Given the description of an element on the screen output the (x, y) to click on. 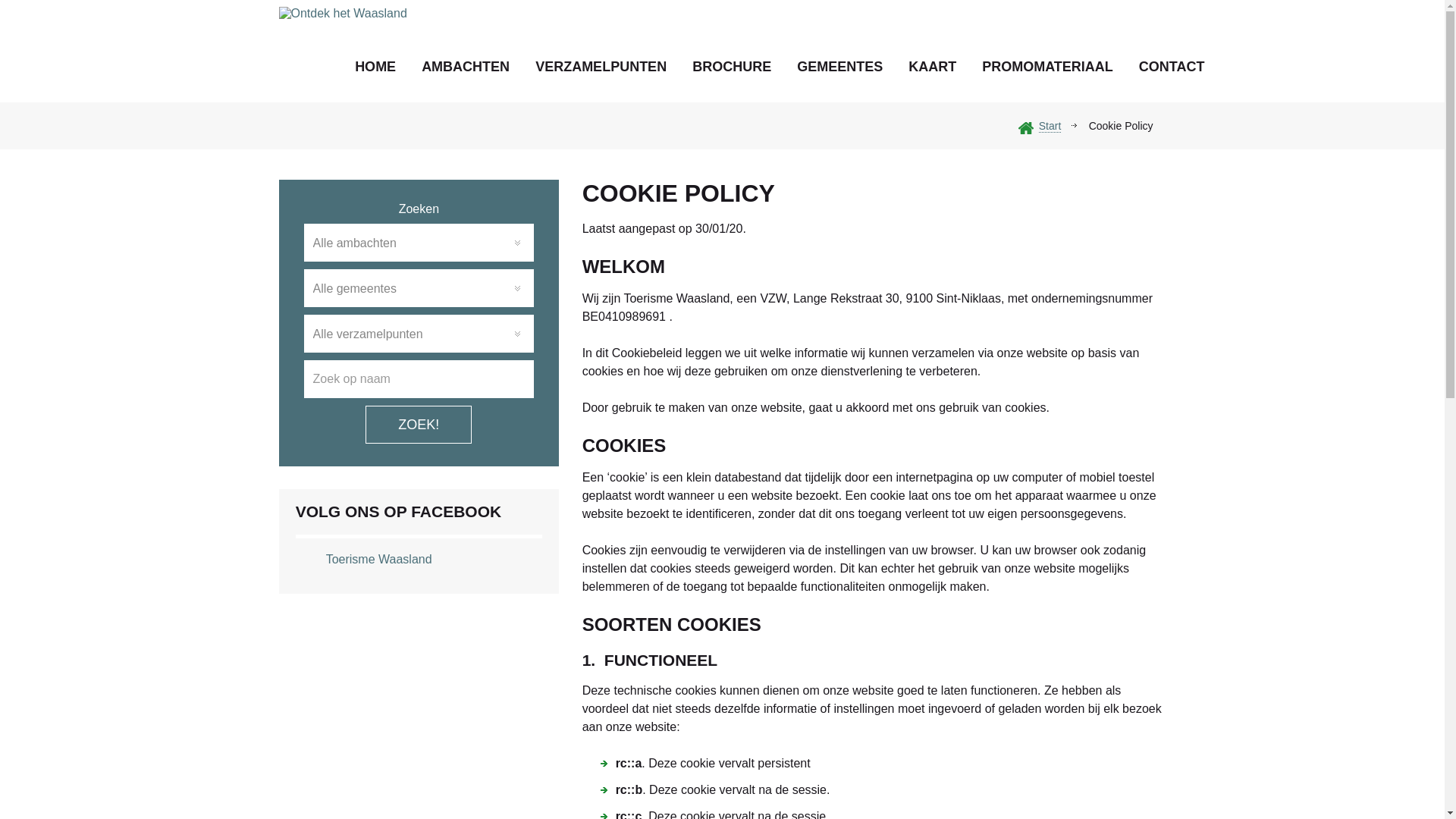
HOME Element type: text (375, 66)
GEMEENTES Element type: text (839, 66)
Toerisme Waasland Element type: text (379, 558)
Ontdek het Waasland Element type: hover (348, 77)
AMBACHTEN Element type: text (465, 66)
VERZAMELPUNTEN Element type: text (600, 66)
CONTACT Element type: text (1171, 66)
KAART Element type: text (932, 66)
ZOEK! Element type: text (418, 424)
Start Element type: text (1049, 125)
BROCHURE Element type: text (731, 66)
PROMOMATERIAAL Element type: text (1047, 66)
